Given the description of an element on the screen output the (x, y) to click on. 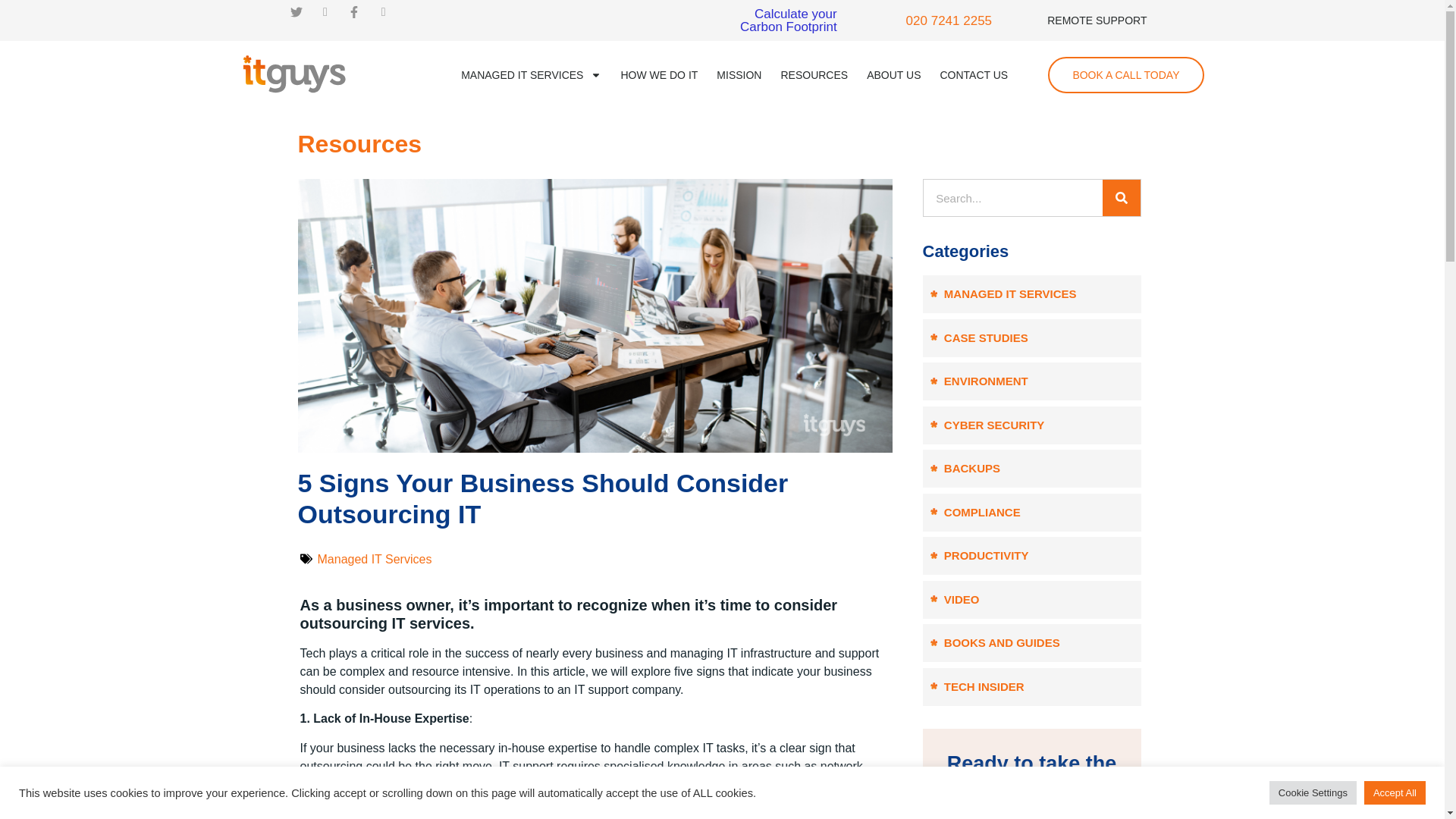
MANAGED IT SERVICES (531, 74)
REMOTE SUPPORT (1096, 20)
Managed IT Services (373, 558)
MISSION (738, 74)
HOW WE DO IT (658, 74)
BOOK A CALL TODAY (1126, 74)
020 7241 2255 (948, 20)
RESOURCES (813, 74)
ABOUT US (788, 20)
